Given the description of an element on the screen output the (x, y) to click on. 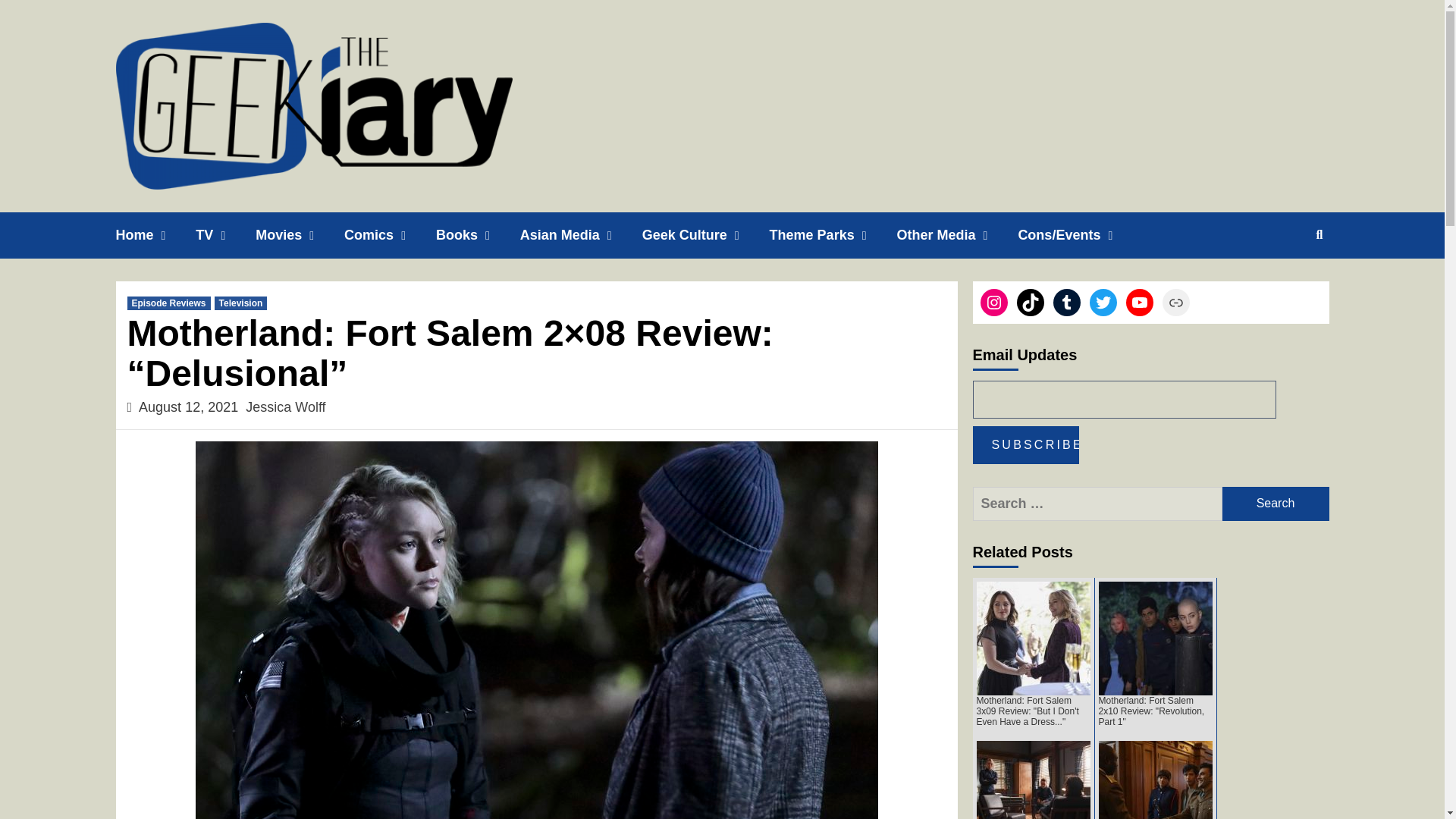
Search (1276, 503)
Subscribe (1025, 444)
Movies (299, 235)
Home (155, 235)
Books (477, 235)
TV (225, 235)
Asian Media (580, 235)
Comics (389, 235)
Geek Culture (706, 235)
Search (1276, 503)
